Given the description of an element on the screen output the (x, y) to click on. 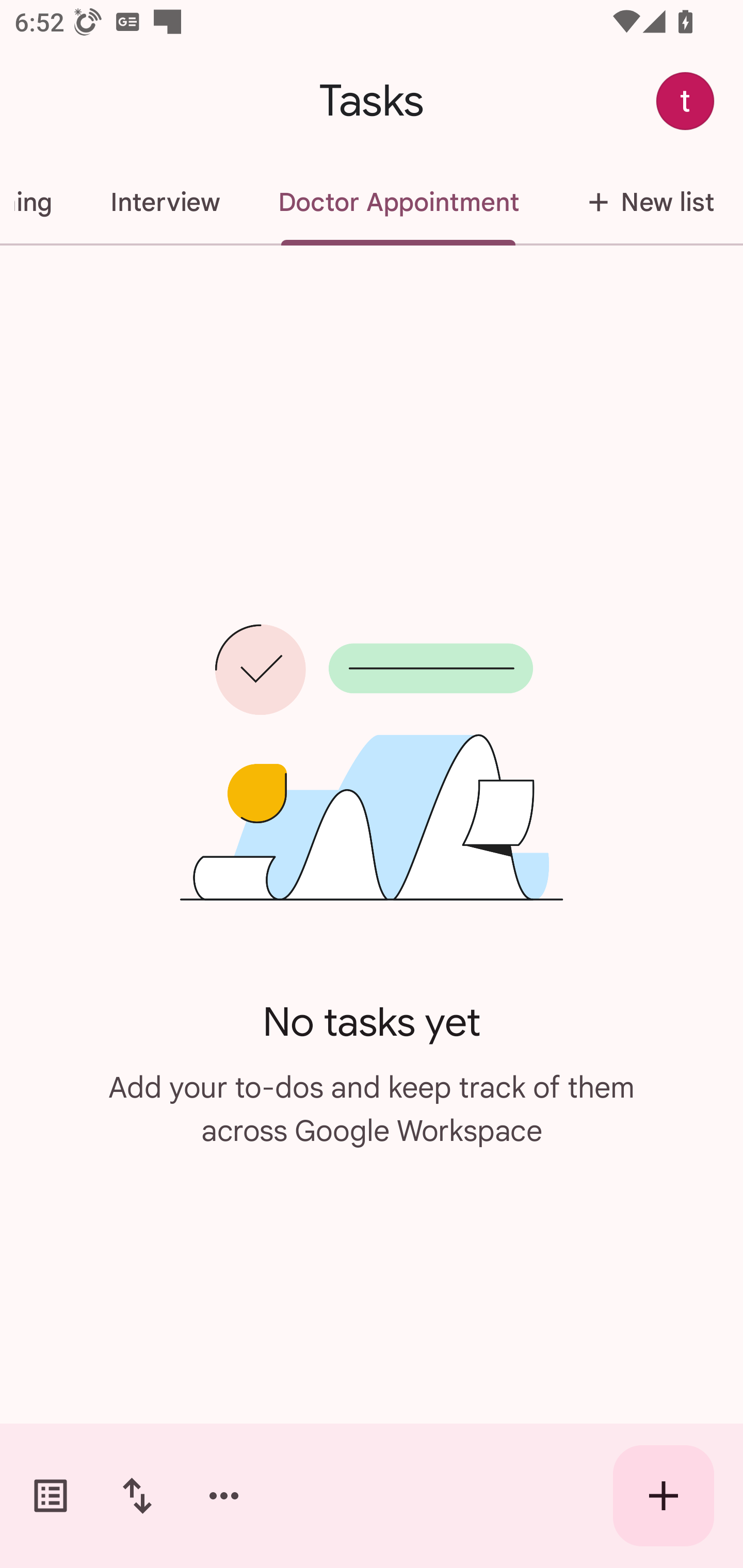
Interview (164, 202)
New list (645, 202)
Switch task lists (50, 1495)
Create new task (663, 1495)
Change sort order (136, 1495)
More options (223, 1495)
